Given the description of an element on the screen output the (x, y) to click on. 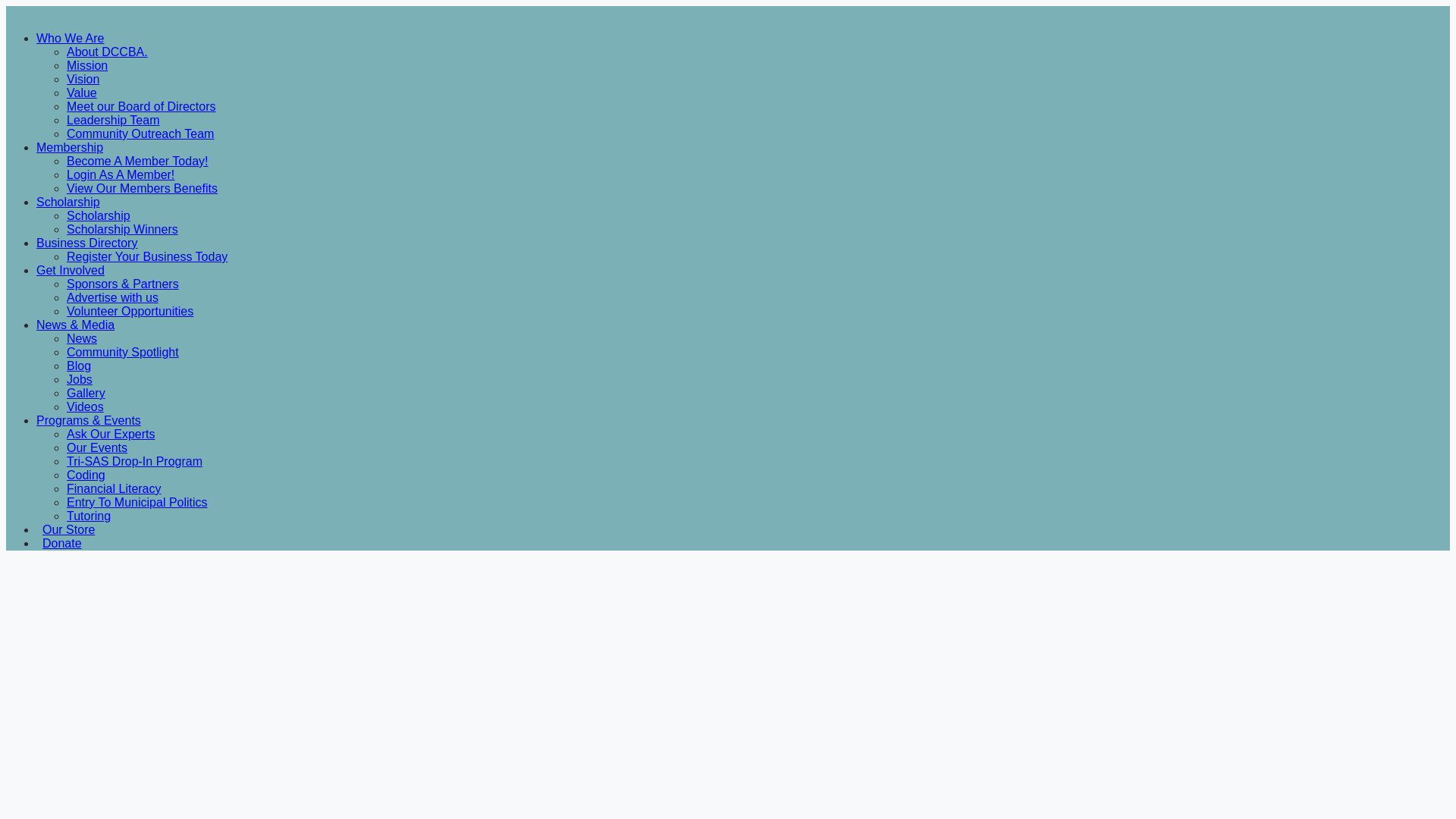
Jobs (79, 379)
Scholarship (68, 201)
Coding (85, 474)
Value (81, 92)
About DCCBA. (107, 51)
Ask Our Experts (110, 433)
Volunteer Opportunities (129, 310)
Entry To Municipal Politics (137, 502)
Gallery (85, 392)
Our Store (68, 529)
Vision (82, 78)
Membership (69, 146)
Leadership Team (112, 119)
Become A Member Today! (137, 160)
Mission (86, 65)
